Given the description of an element on the screen output the (x, y) to click on. 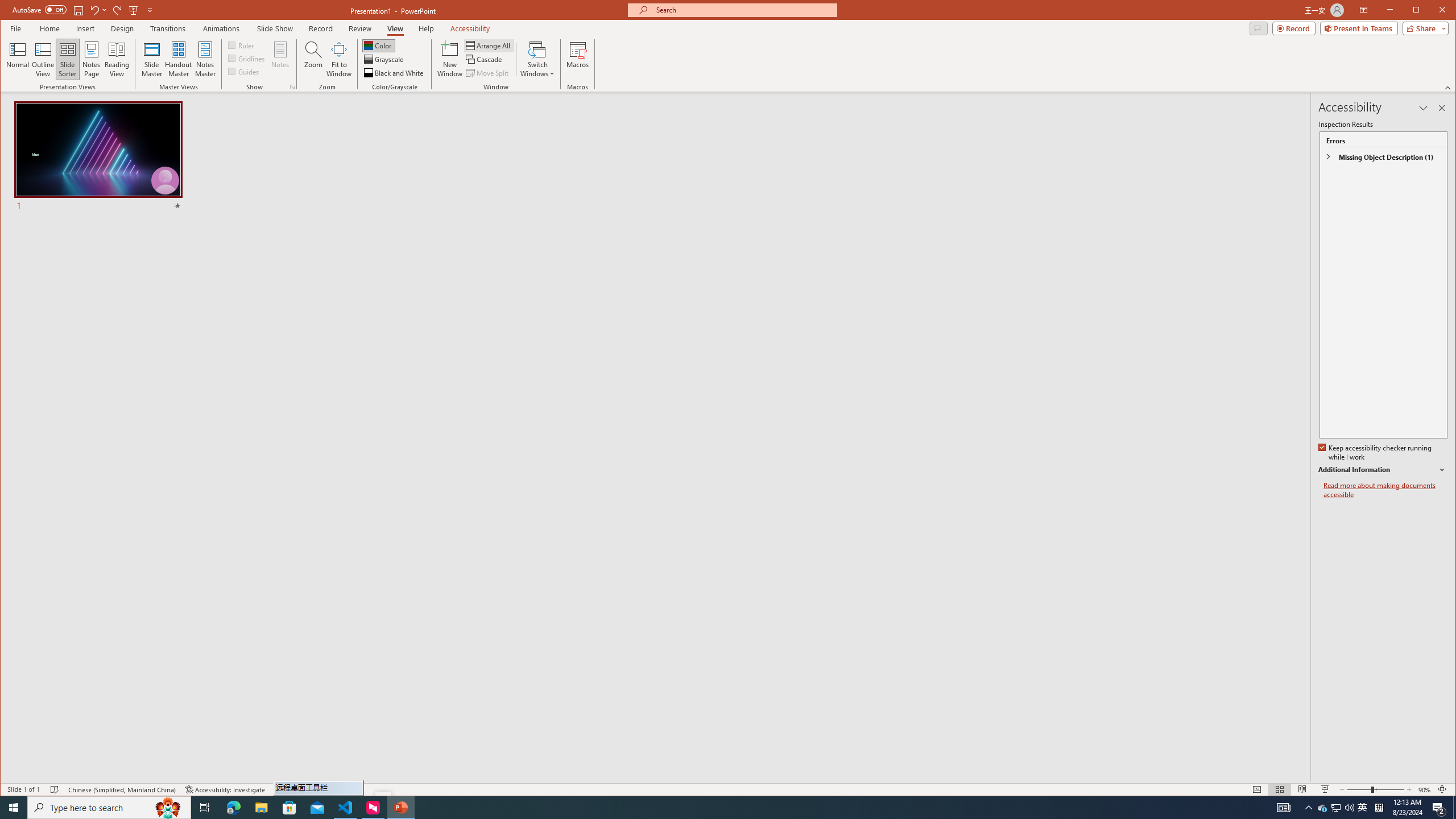
Notes Master (204, 59)
